Given the description of an element on the screen output the (x, y) to click on. 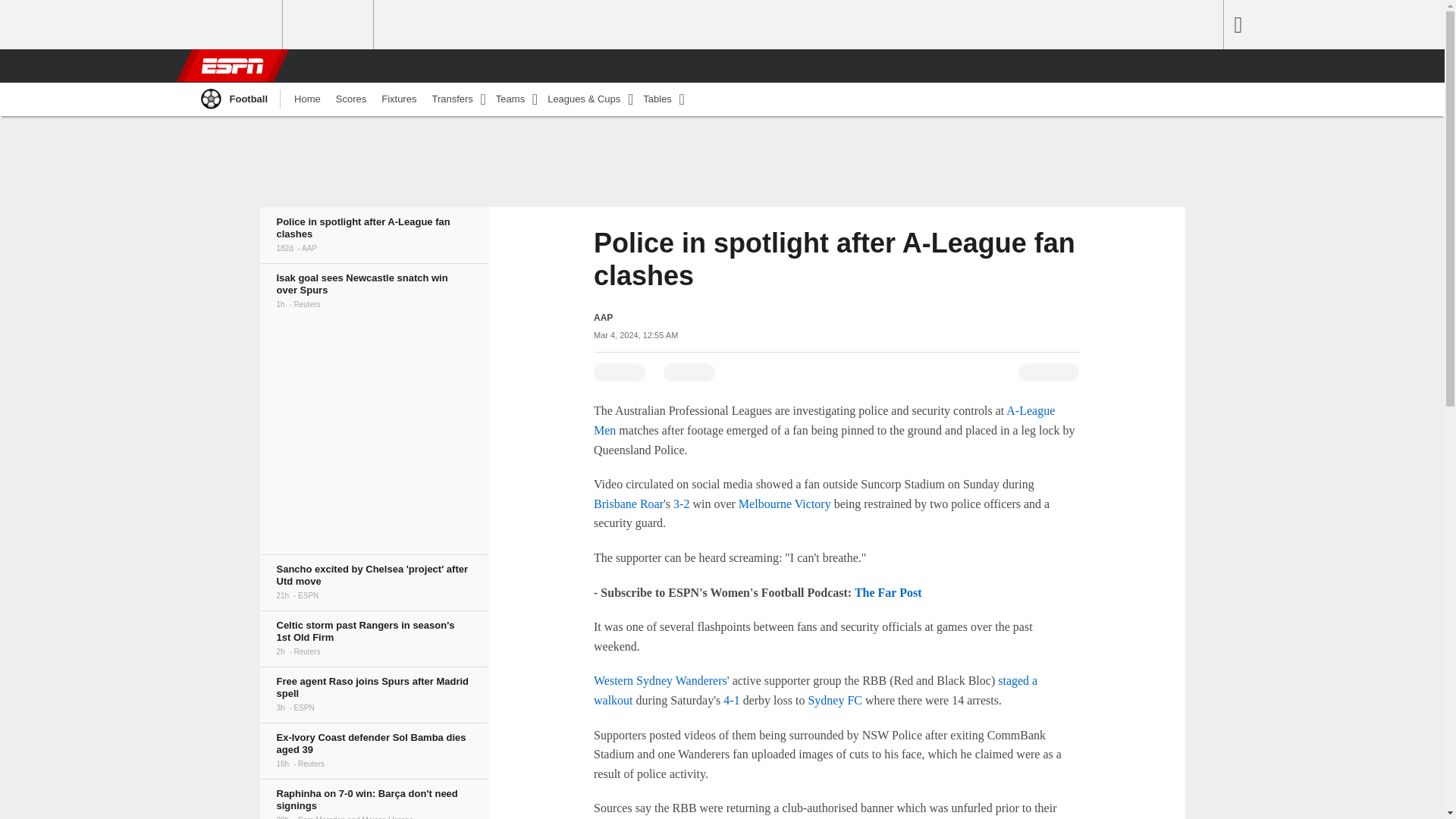
ESPN (231, 65)
Home (307, 99)
Football (232, 99)
